Given the description of an element on the screen output the (x, y) to click on. 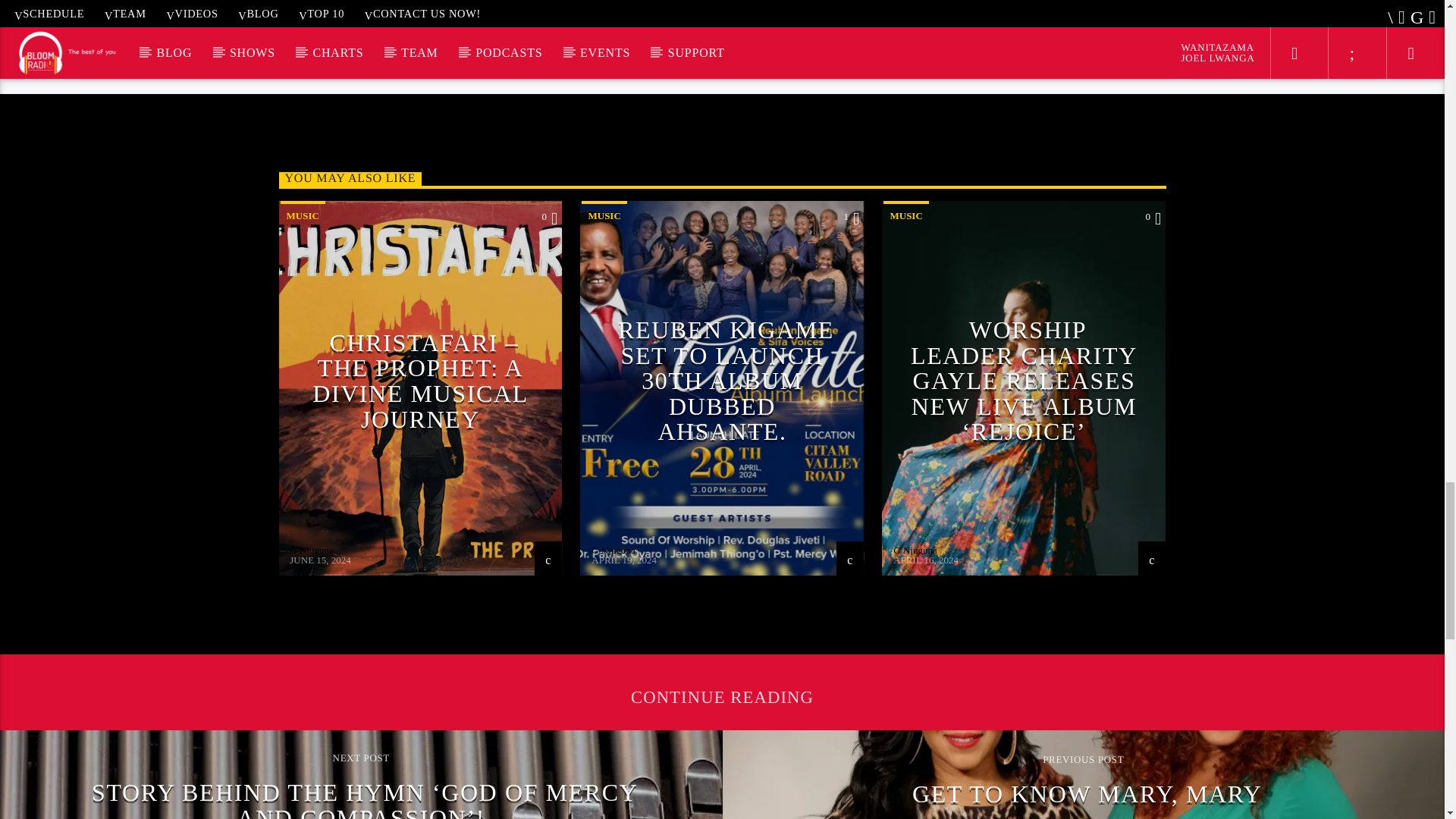
Posts by G Njuguna (612, 550)
Posts by G Njuguna (914, 550)
Posts by G Njuguna (311, 550)
